Given the description of an element on the screen output the (x, y) to click on. 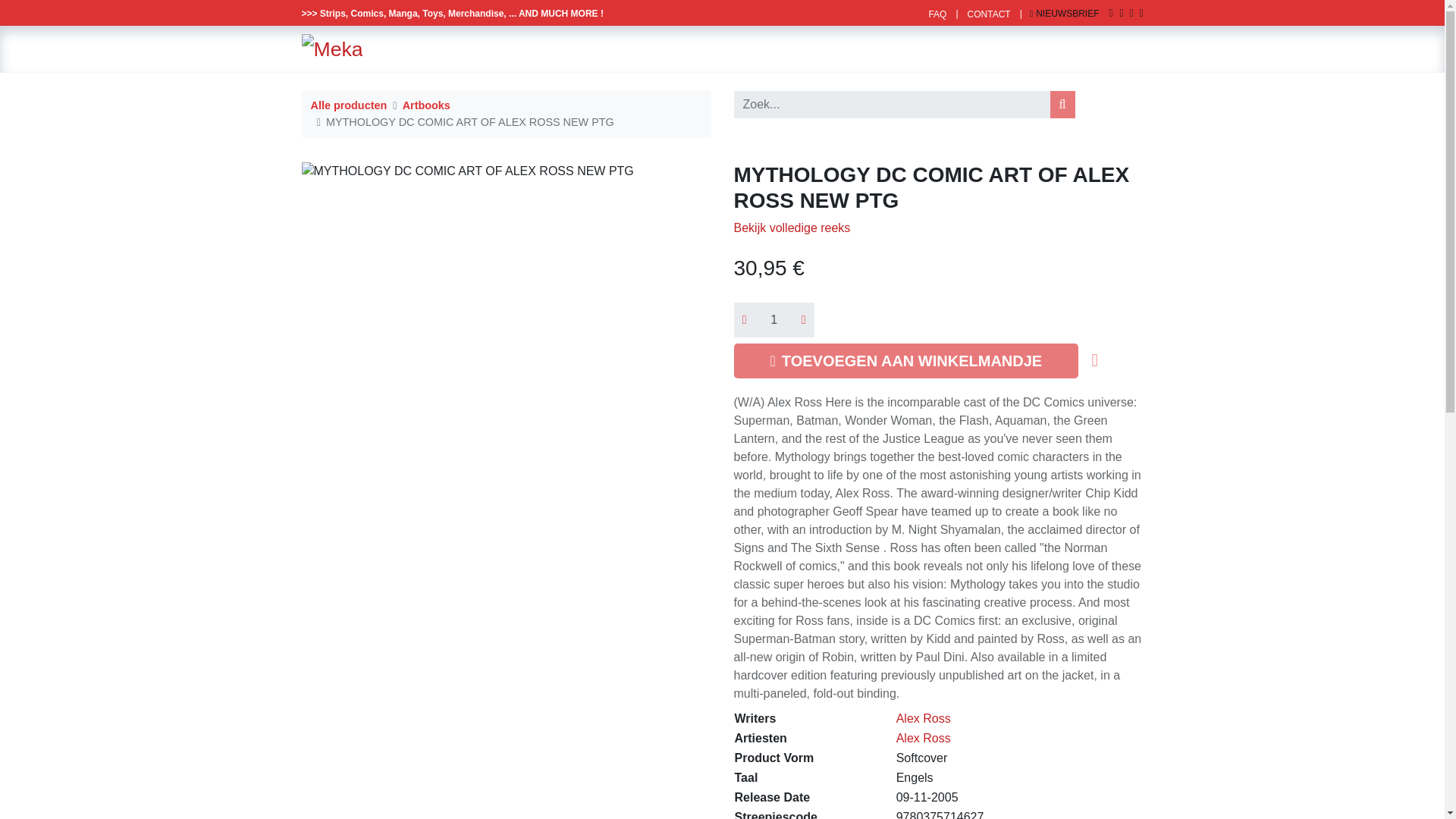
FAQ (936, 14)
Mekanik Strip (331, 49)
1 (774, 319)
CONTACT (989, 14)
Artbooks (426, 105)
Alle producten (349, 105)
NIEUWSBRIEF (1064, 13)
Bekijk volledige reeks (791, 227)
